Given the description of an element on the screen output the (x, y) to click on. 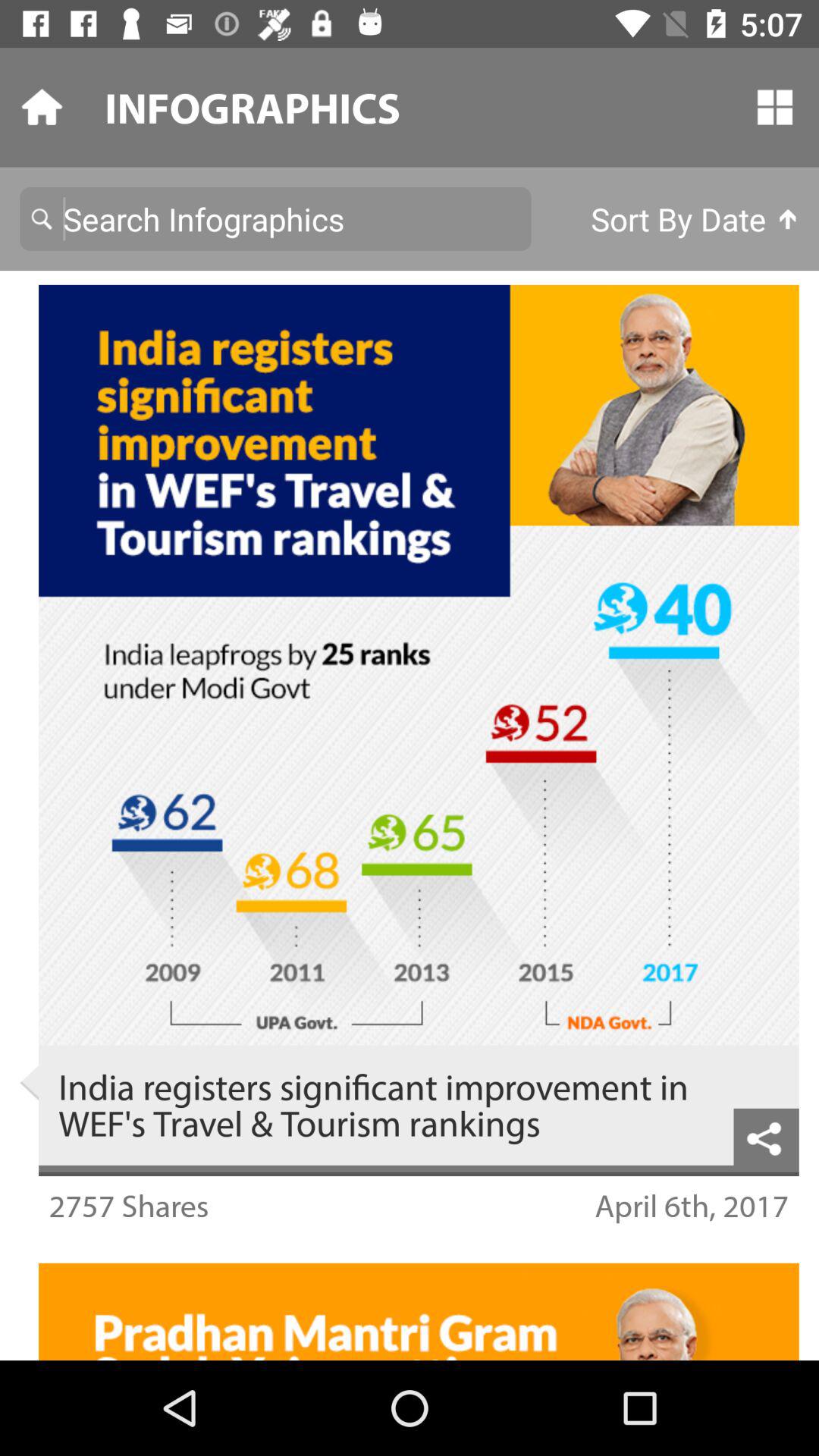
press the icon next to sort by date (275, 218)
